Given the description of an element on the screen output the (x, y) to click on. 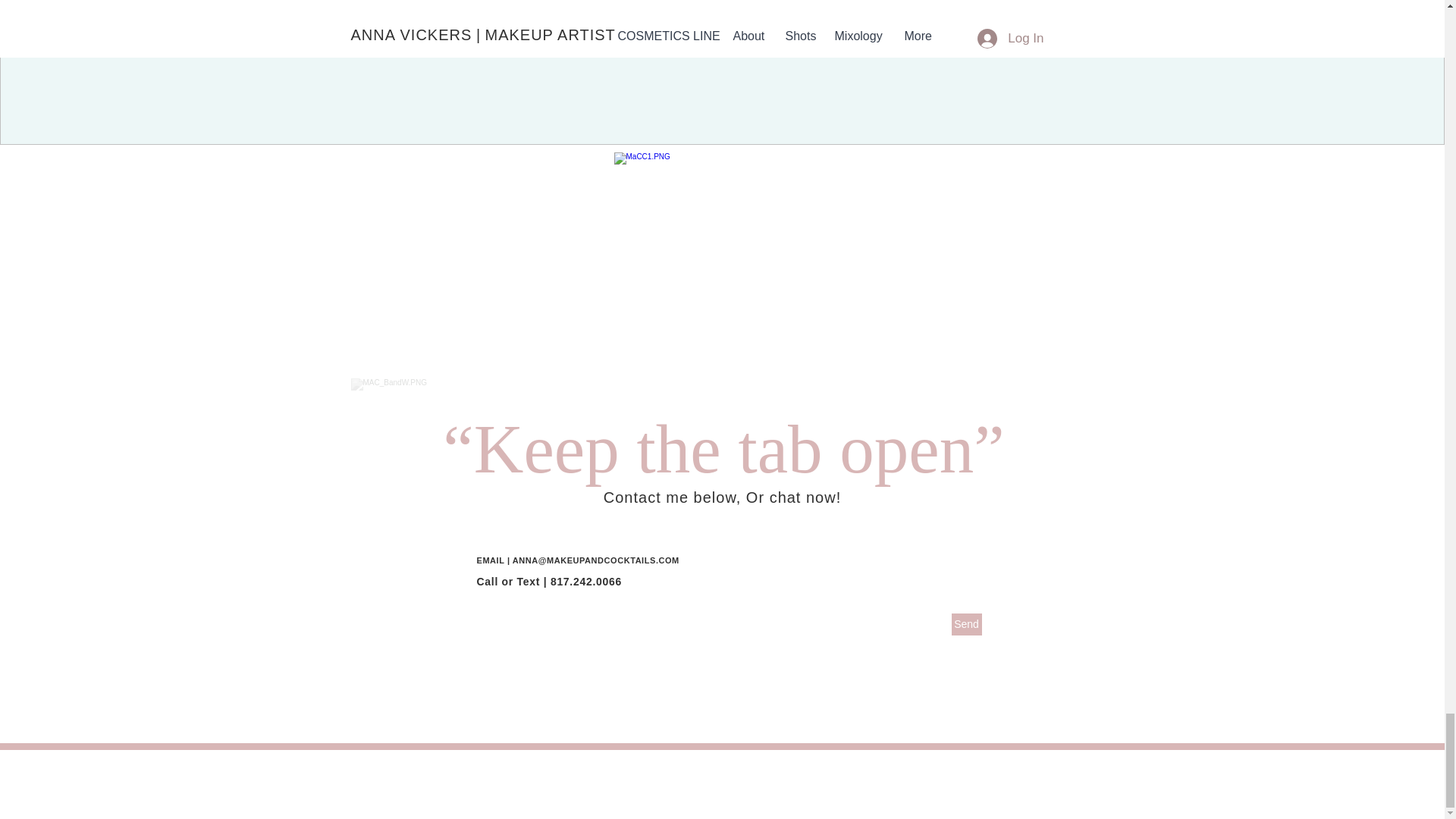
Wix.com (851, 811)
Send (965, 624)
